Given the description of an element on the screen output the (x, y) to click on. 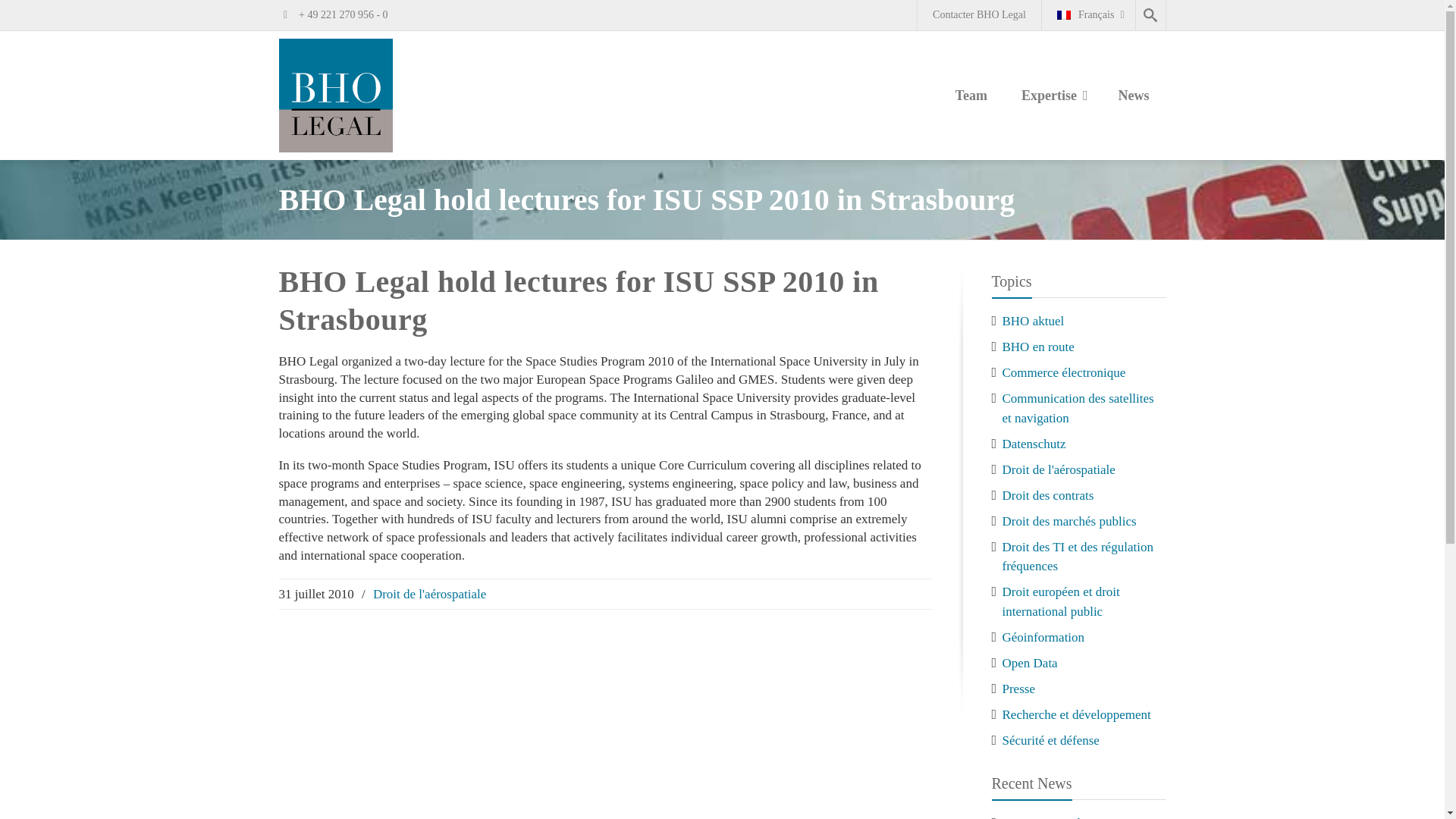
Team (971, 96)
Open Data (1030, 662)
News (1133, 96)
Presse (1019, 687)
BHO en route (1038, 346)
BHO aktuel (1033, 320)
Contacter BHO Legal (979, 15)
Communication des satellites et navigation (1078, 408)
Datenschutz (1034, 443)
Droit des contrats (1048, 495)
